Given the description of an element on the screen output the (x, y) to click on. 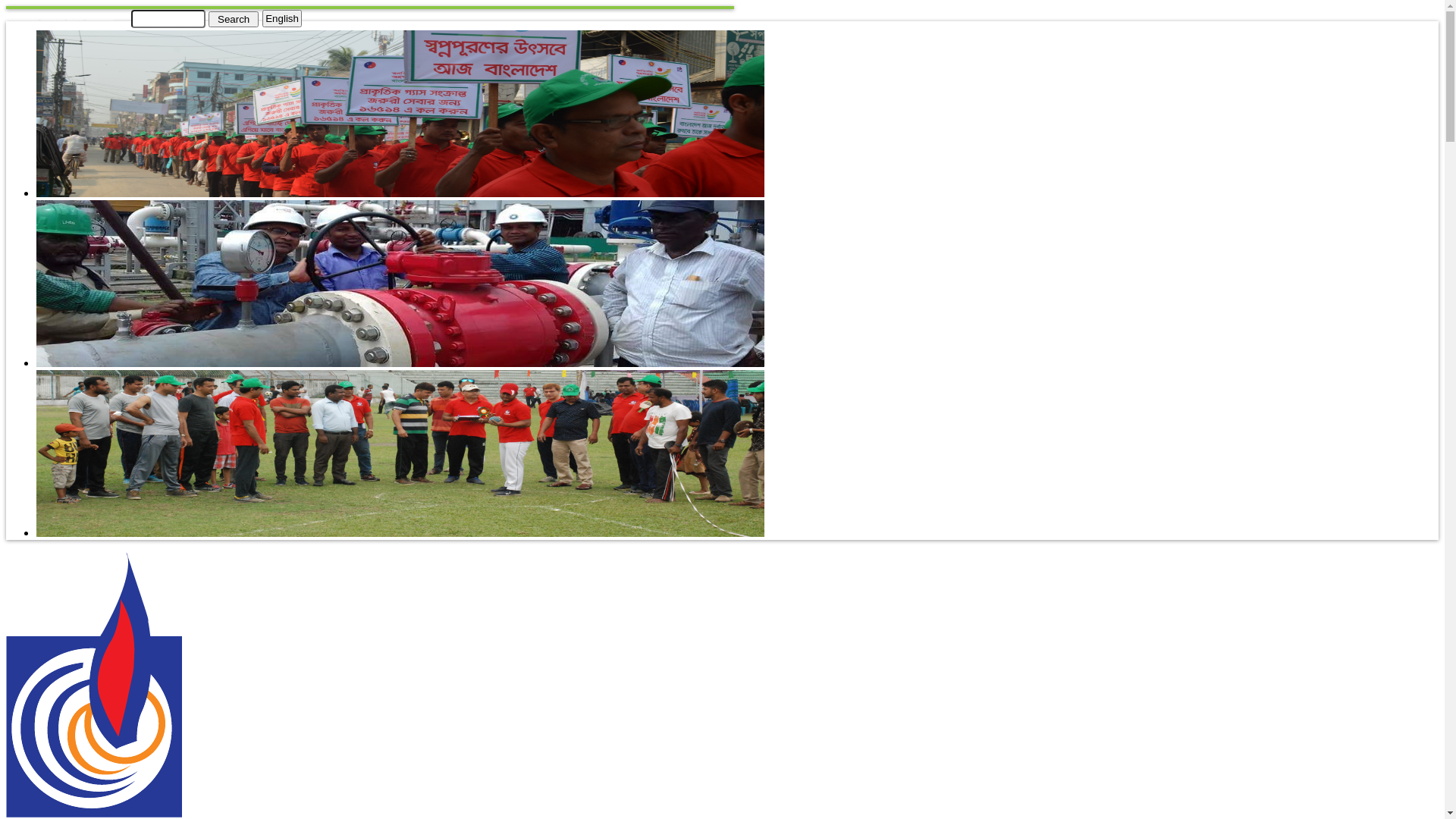
English Element type: text (281, 18)
Search Element type: text (233, 18)
